Given the description of an element on the screen output the (x, y) to click on. 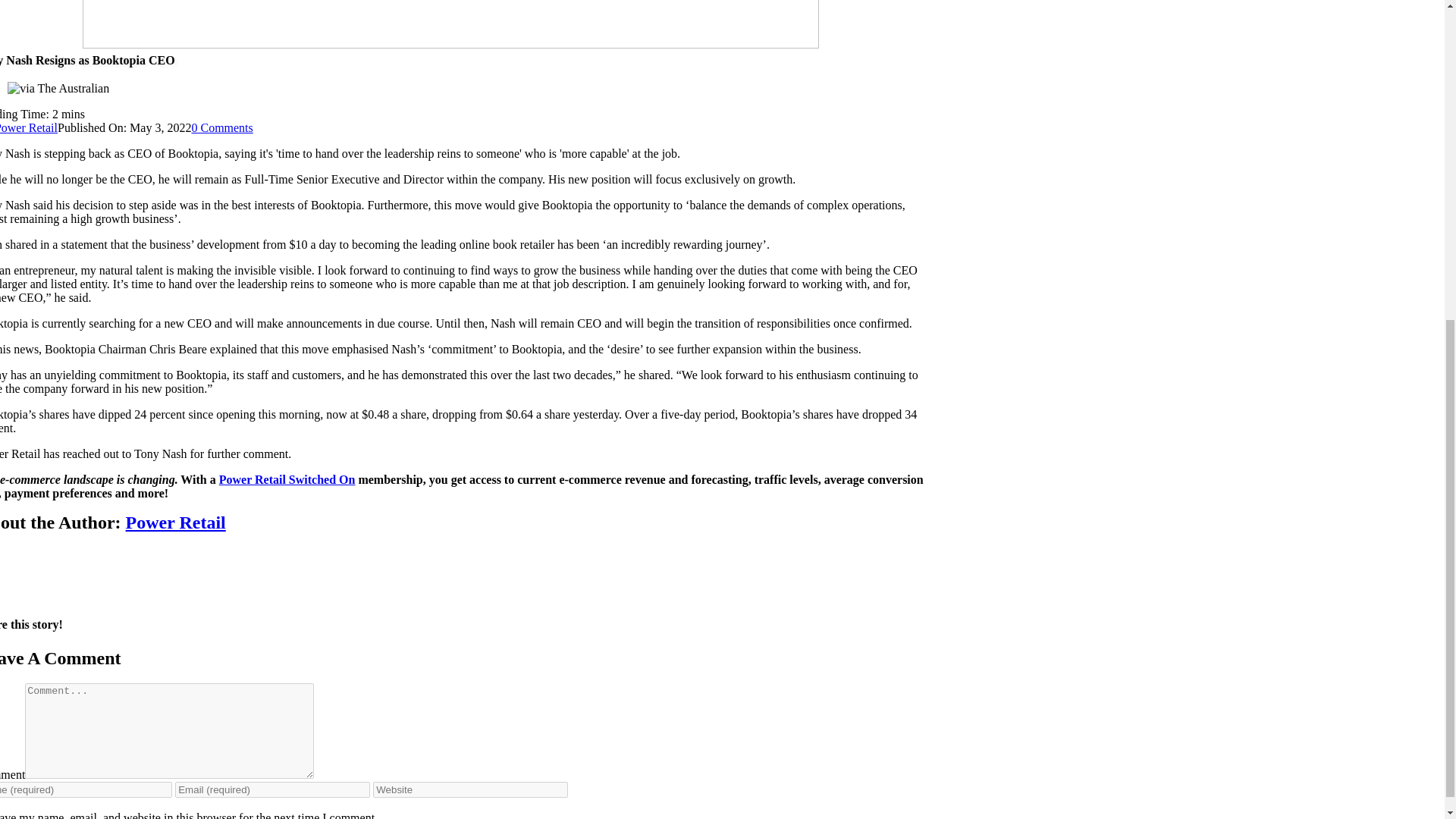
Posts by Power Retail (29, 127)
